Given the description of an element on the screen output the (x, y) to click on. 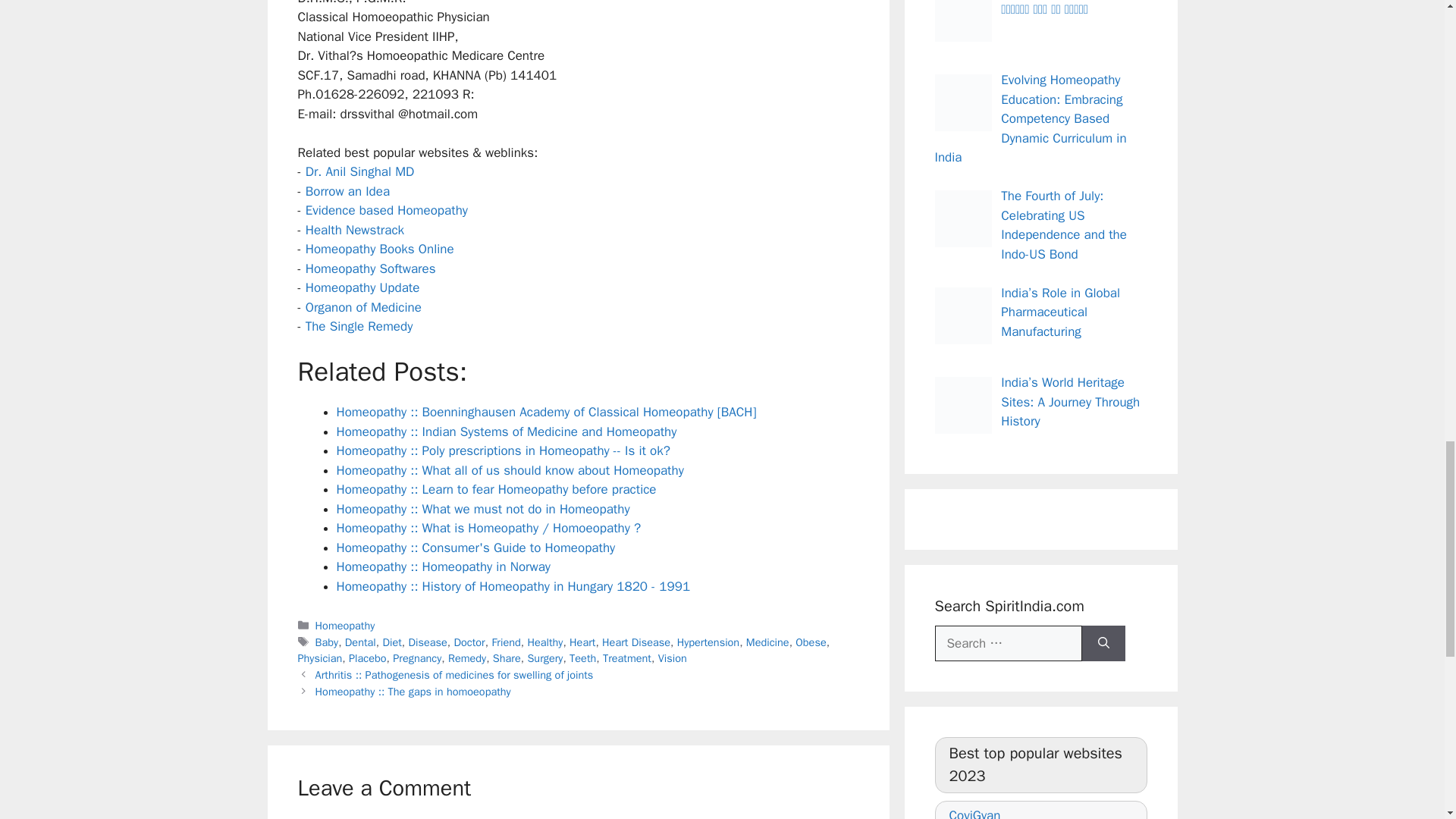
Homeopathy :: History of Homeopathy in Hungary 1820 - 1991 (513, 586)
The Single Remedy (359, 326)
Homeopathy Books Online (379, 248)
Health Newstrack (354, 229)
Homeopathy :: Learn to fear Homeopathy before practice (496, 489)
Hypertension (708, 642)
Homeopathy :: What we must not do in Homeopathy (483, 508)
Heart Disease (635, 642)
Evidence based Homeopathy (386, 210)
Dental (360, 642)
Heart (582, 642)
Homeopathy Update (362, 287)
Doctor (468, 642)
Disease (426, 642)
Homeopathy :: What all of us should know about Homeopathy (510, 470)
